Given the description of an element on the screen output the (x, y) to click on. 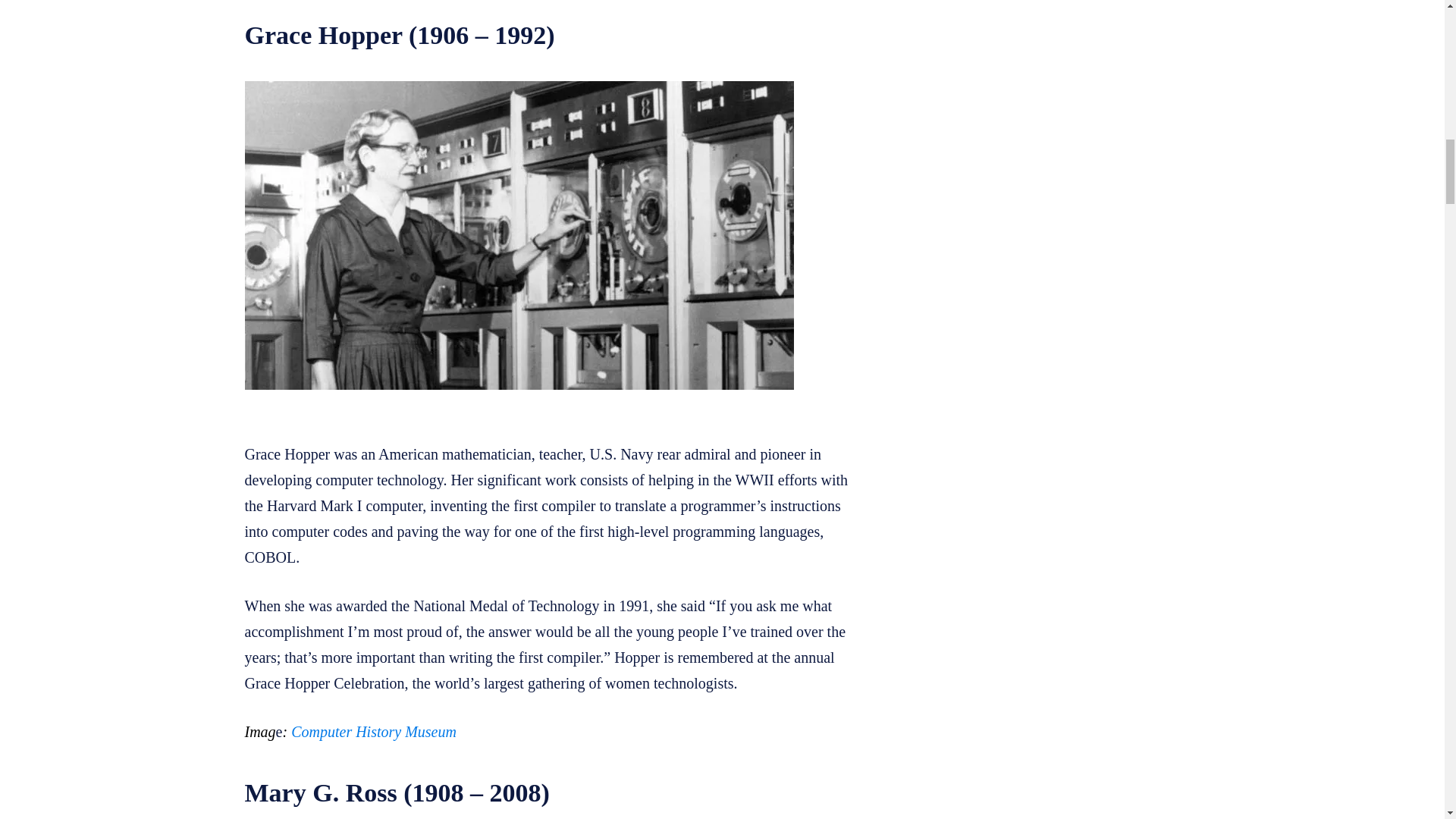
Computer History Museum (374, 731)
